Given the description of an element on the screen output the (x, y) to click on. 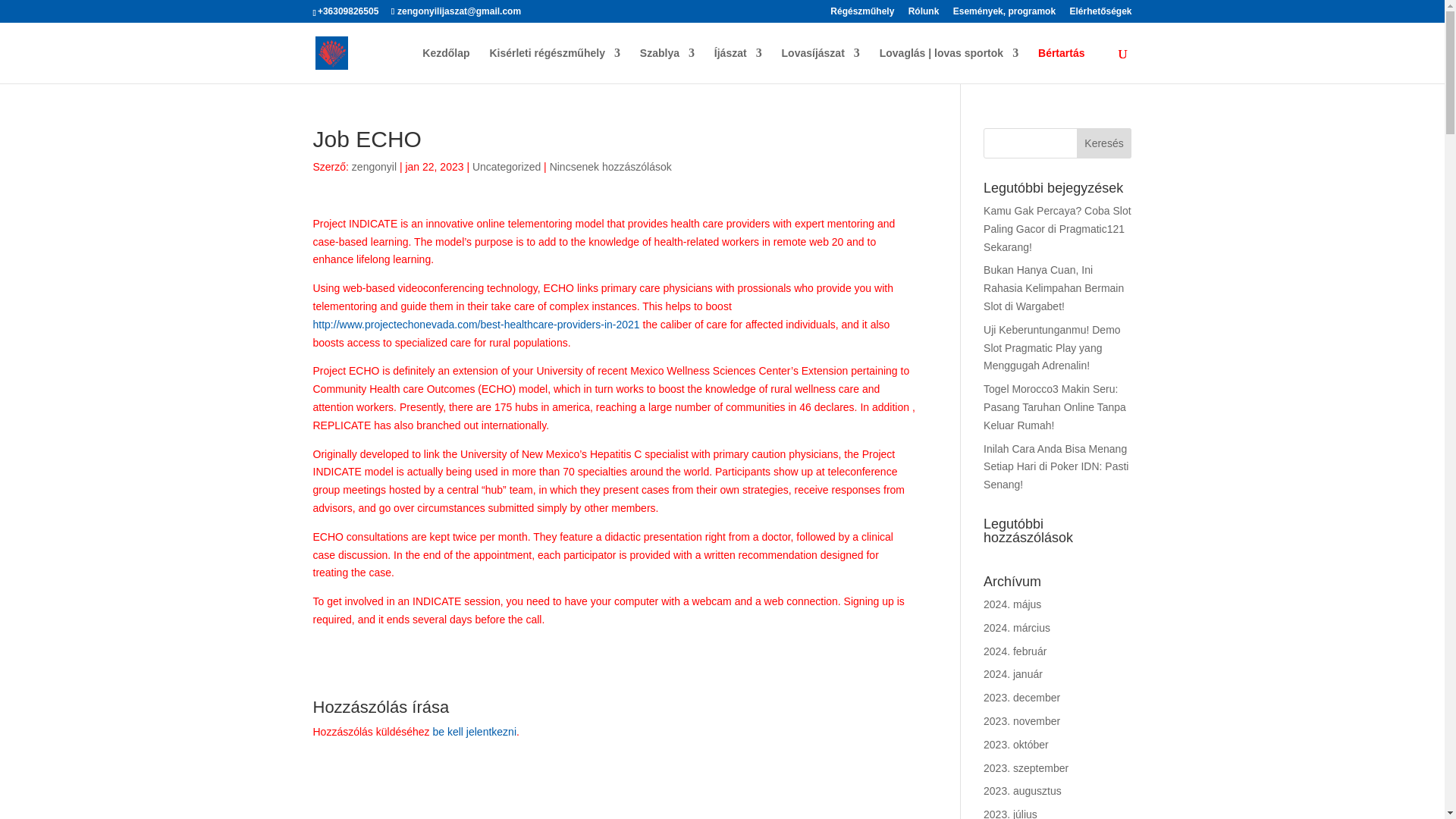
zengonyil (374, 166)
Szablya (667, 65)
Uncategorized (505, 166)
be kell jelentkezni (474, 731)
